Given the description of an element on the screen output the (x, y) to click on. 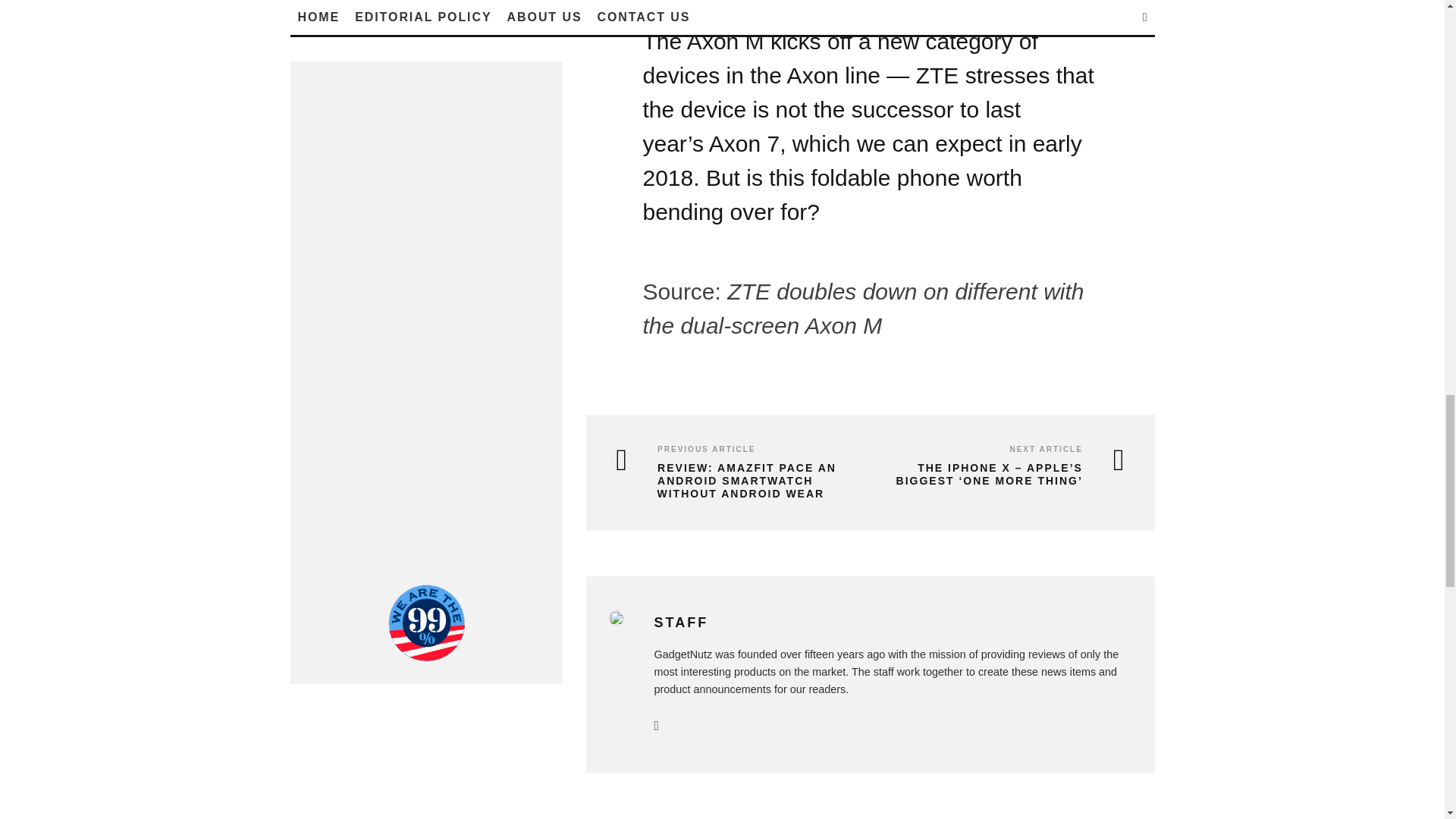
STAFF (680, 622)
Axon 7 (743, 143)
NEXT ARTICLE (1045, 449)
ZTE doubles down on different with the dual-screen Axon M (863, 308)
PREVIOUS ARTICLE (706, 449)
